Given the description of an element on the screen output the (x, y) to click on. 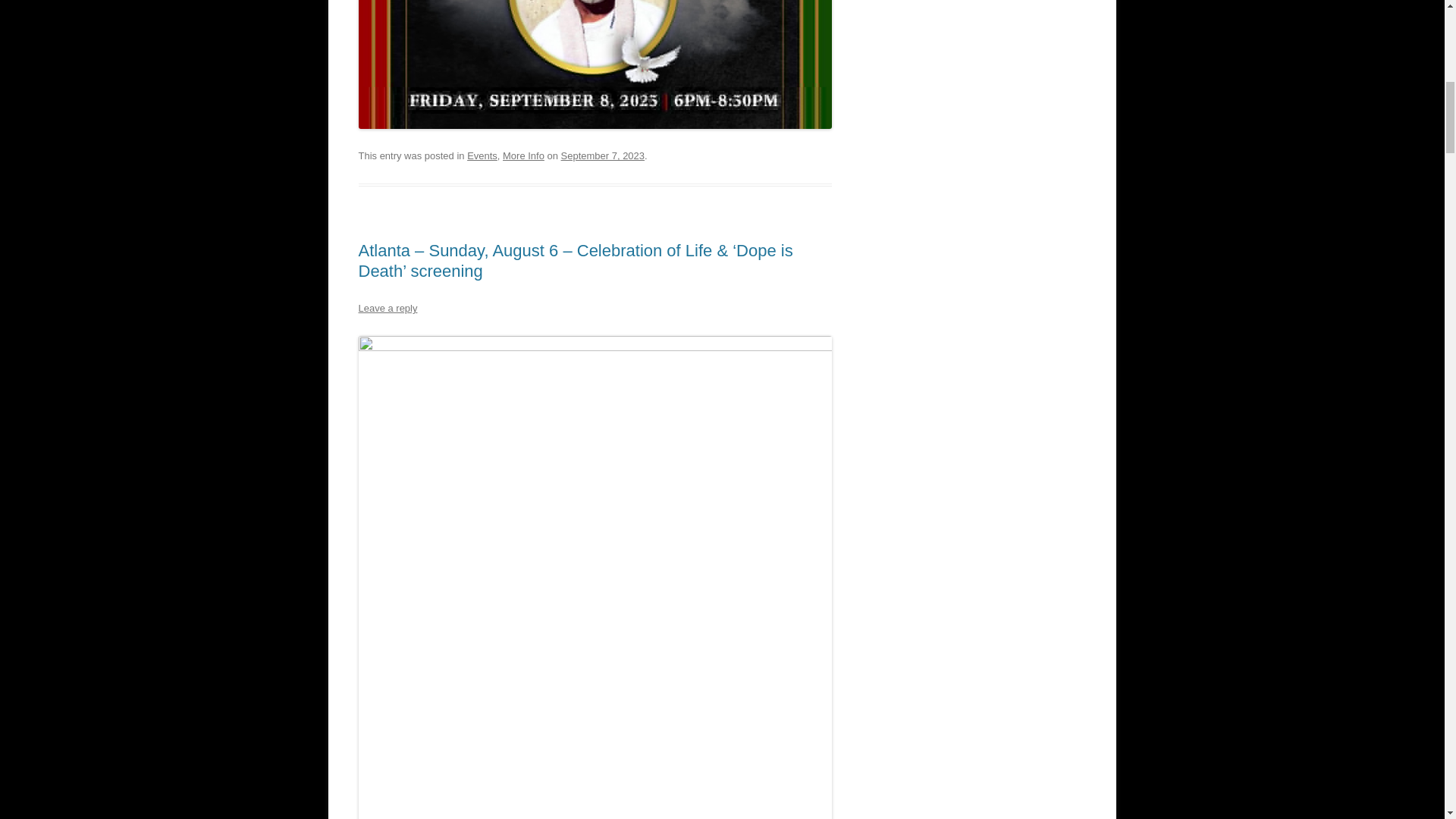
4:55 am (602, 155)
Leave a reply (387, 307)
Events (482, 155)
More Info (523, 155)
September 7, 2023 (602, 155)
